Given the description of an element on the screen output the (x, y) to click on. 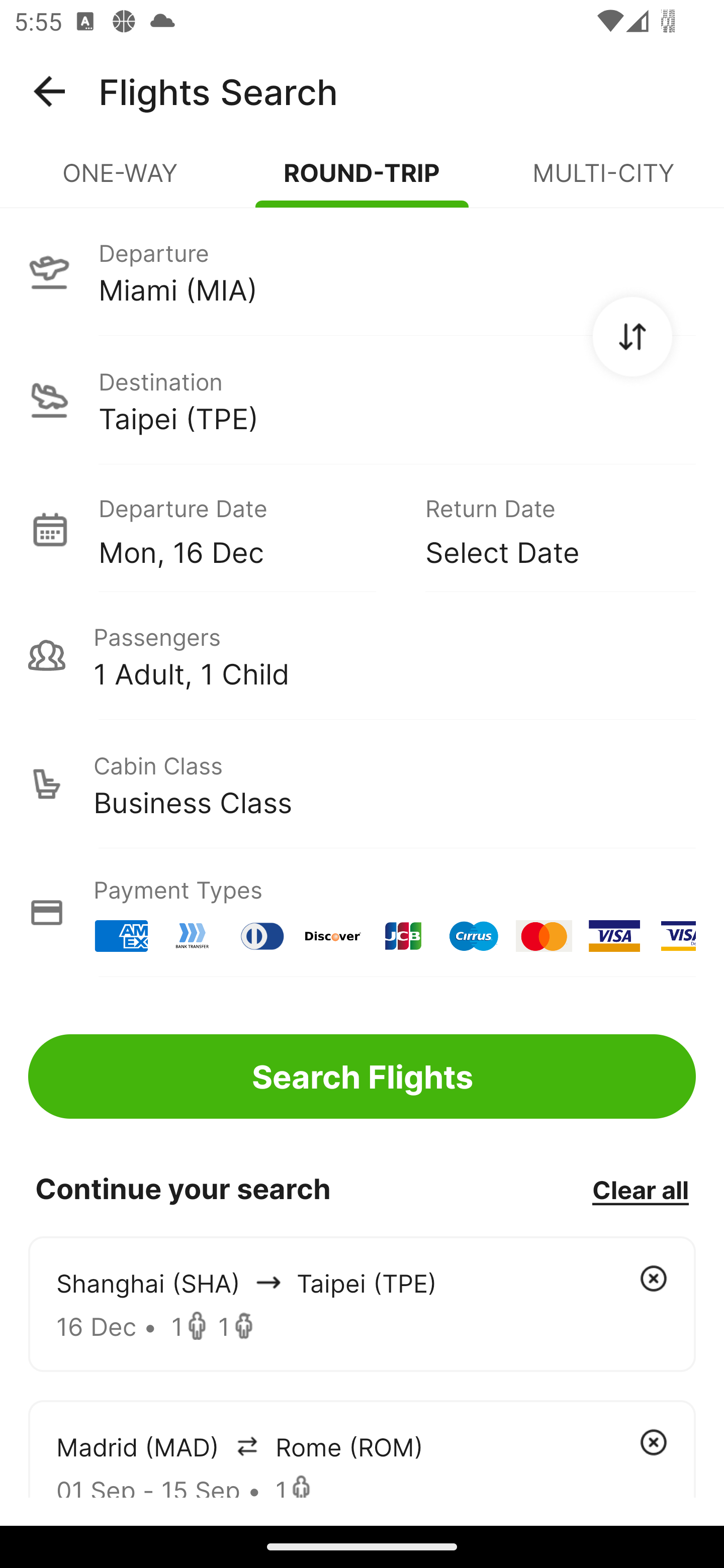
ONE-WAY (120, 180)
ROUND-TRIP (361, 180)
MULTI-CITY (603, 180)
Departure Miami (MIA) (362, 270)
Destination Taipei (TPE) (362, 400)
Departure Date Mon, 16 Dec (247, 528)
Return Date Select Date (546, 528)
Passengers 1 Adult, 1 Child (362, 655)
Cabin Class Business Class (362, 783)
Payment Types (362, 912)
Search Flights (361, 1075)
Clear all (640, 1189)
